Given the description of an element on the screen output the (x, y) to click on. 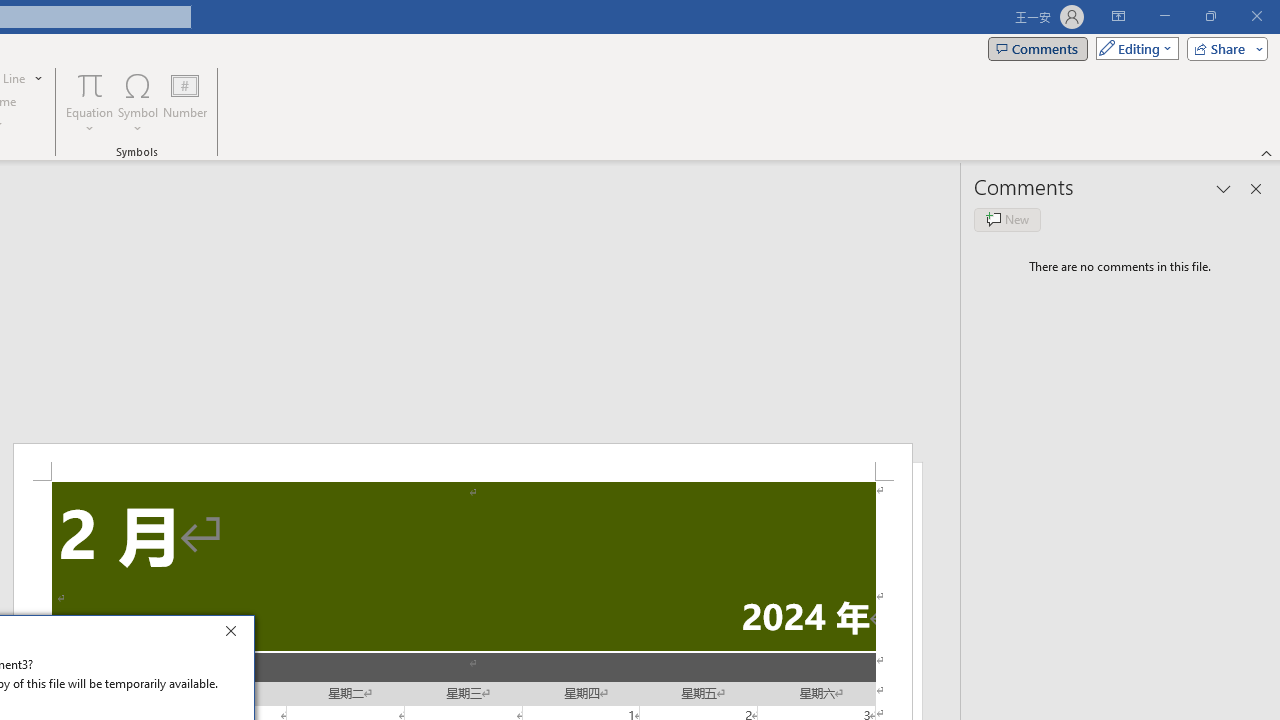
Header -Section 2- (462, 461)
Number... (185, 102)
